Given the description of an element on the screen output the (x, y) to click on. 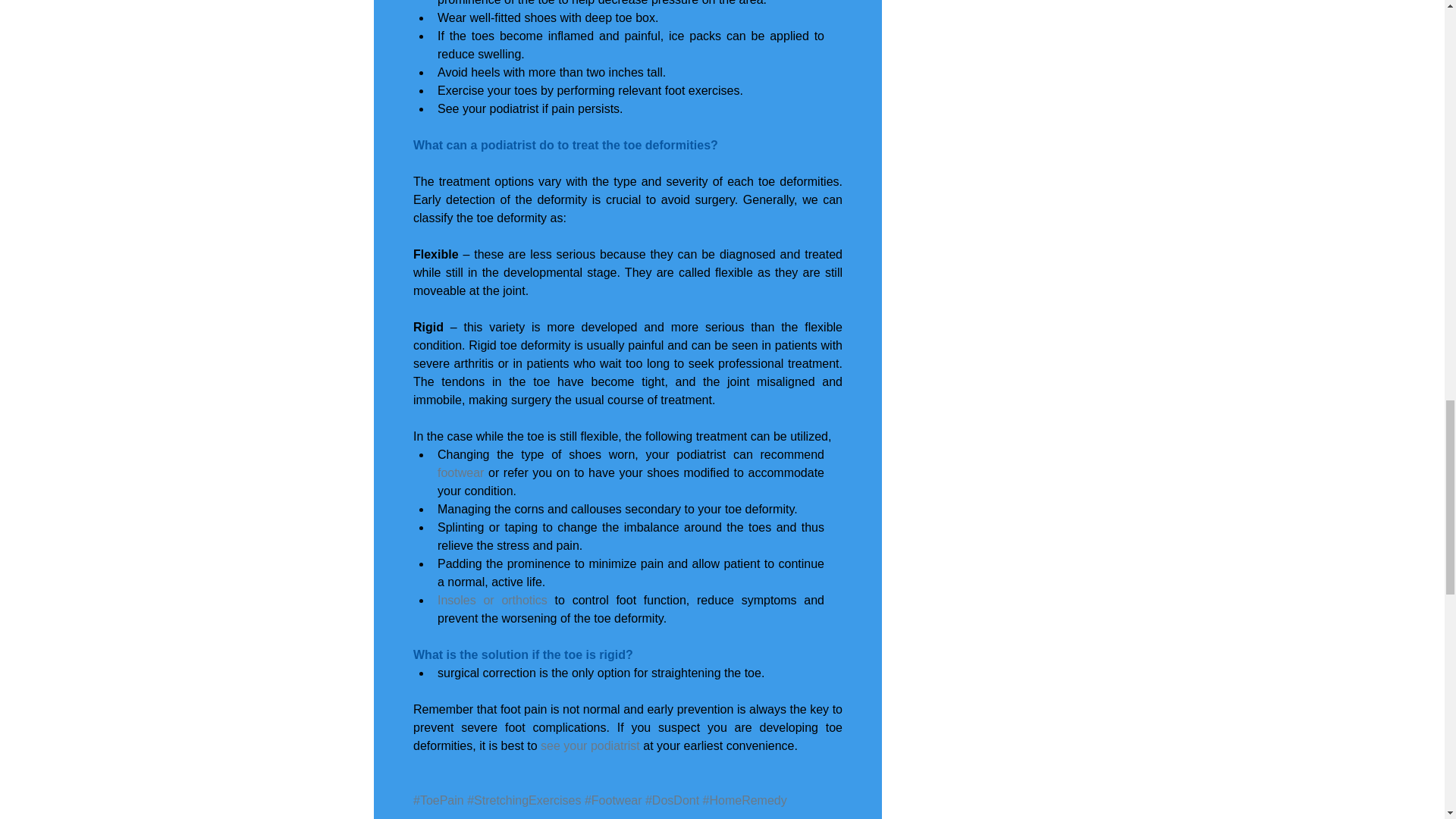
footwear (459, 472)
Insoles or orthotics (491, 599)
see your podiatrist  (591, 745)
